Given the description of an element on the screen output the (x, y) to click on. 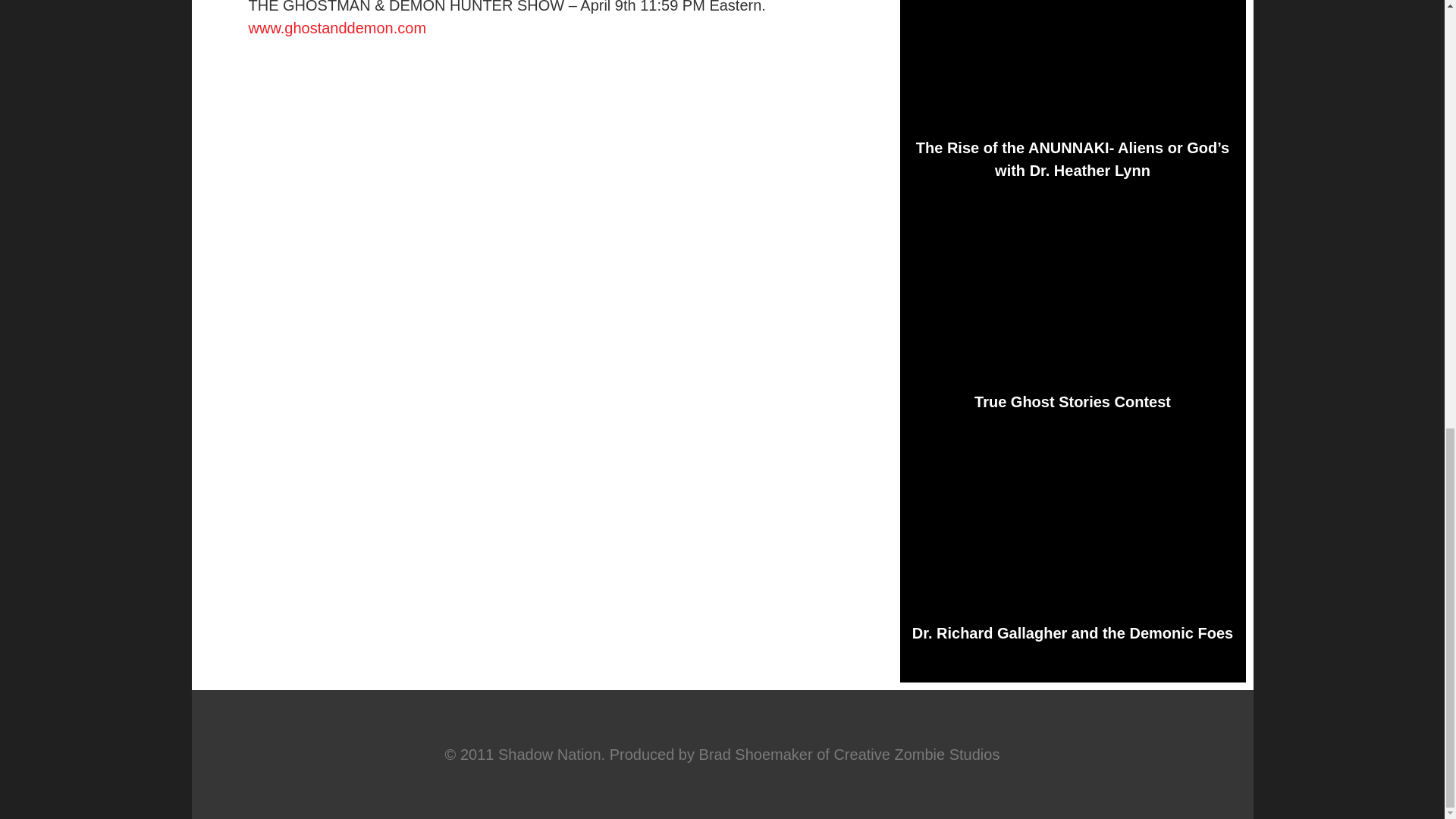
Creative Zombie Studios (915, 754)
www.ghostanddemon.com (337, 27)
Dr. Richard Gallagher and the Demonic Foes (1072, 632)
www.ghostanddemon.com (337, 27)
True Ghost Stories Contest (1072, 401)
